Given the description of an element on the screen output the (x, y) to click on. 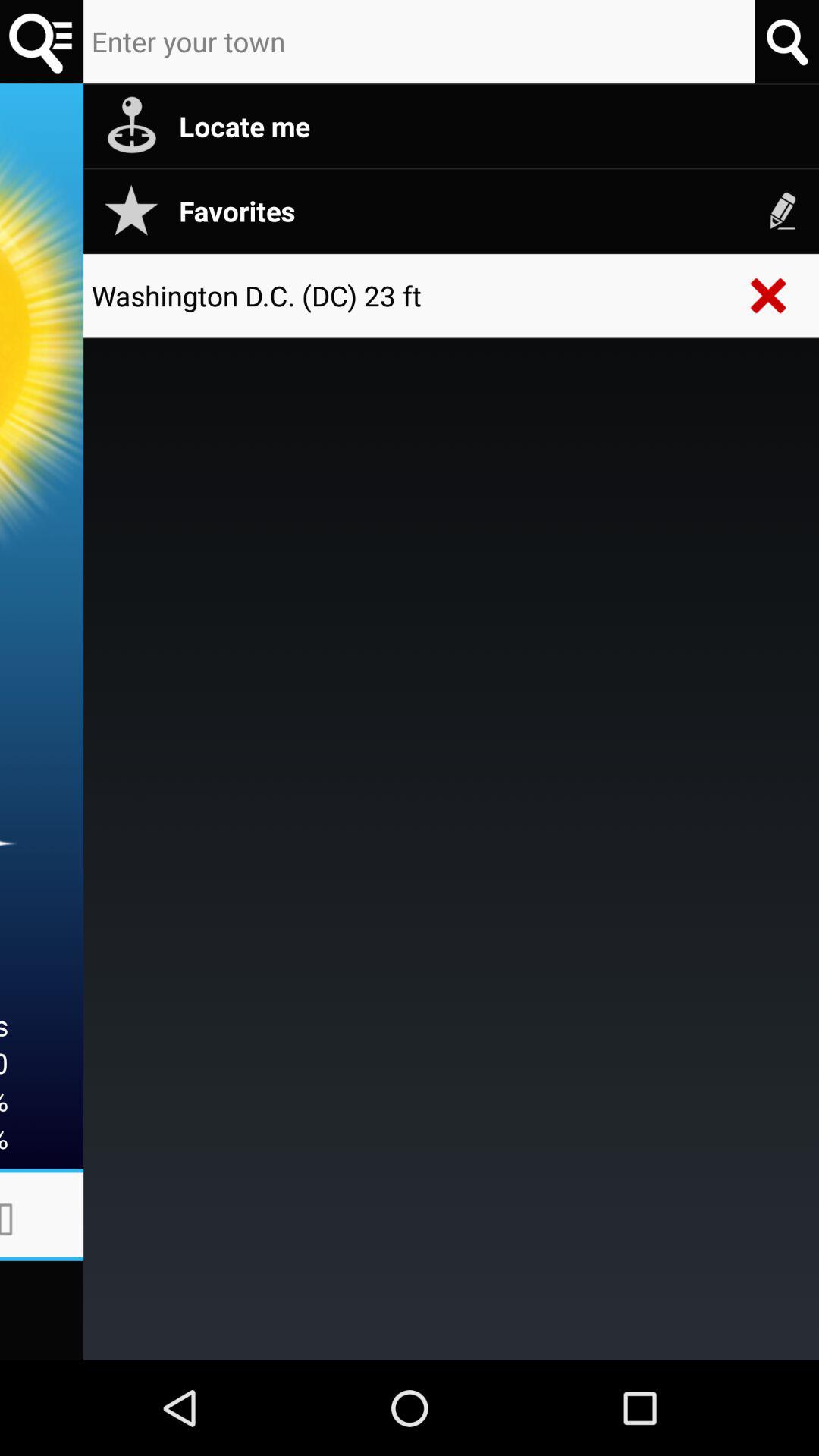
searching (41, 41)
